Given the description of an element on the screen output the (x, y) to click on. 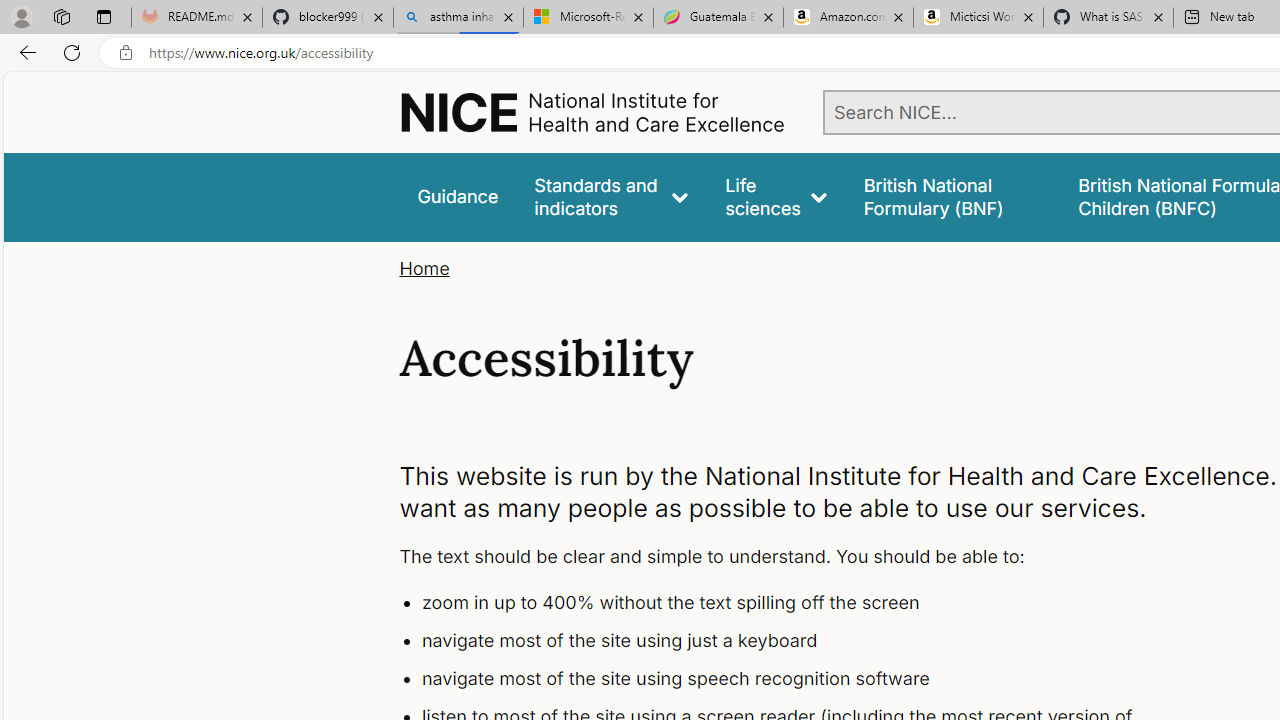
Life sciences (776, 196)
Life sciences (776, 196)
Guidance (458, 196)
Guidance (458, 196)
